Given the description of an element on the screen output the (x, y) to click on. 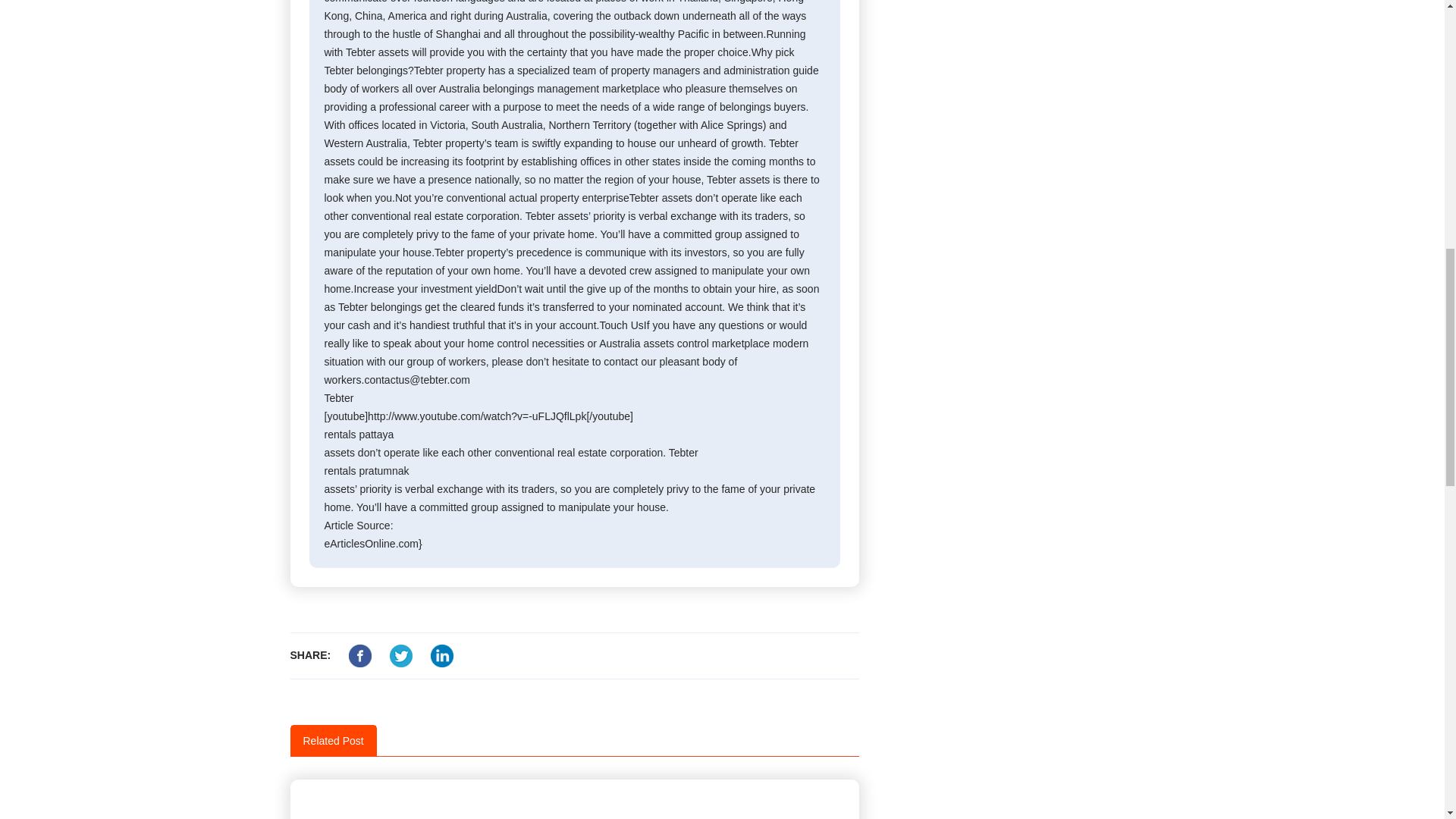
Related Post (333, 740)
